Given the description of an element on the screen output the (x, y) to click on. 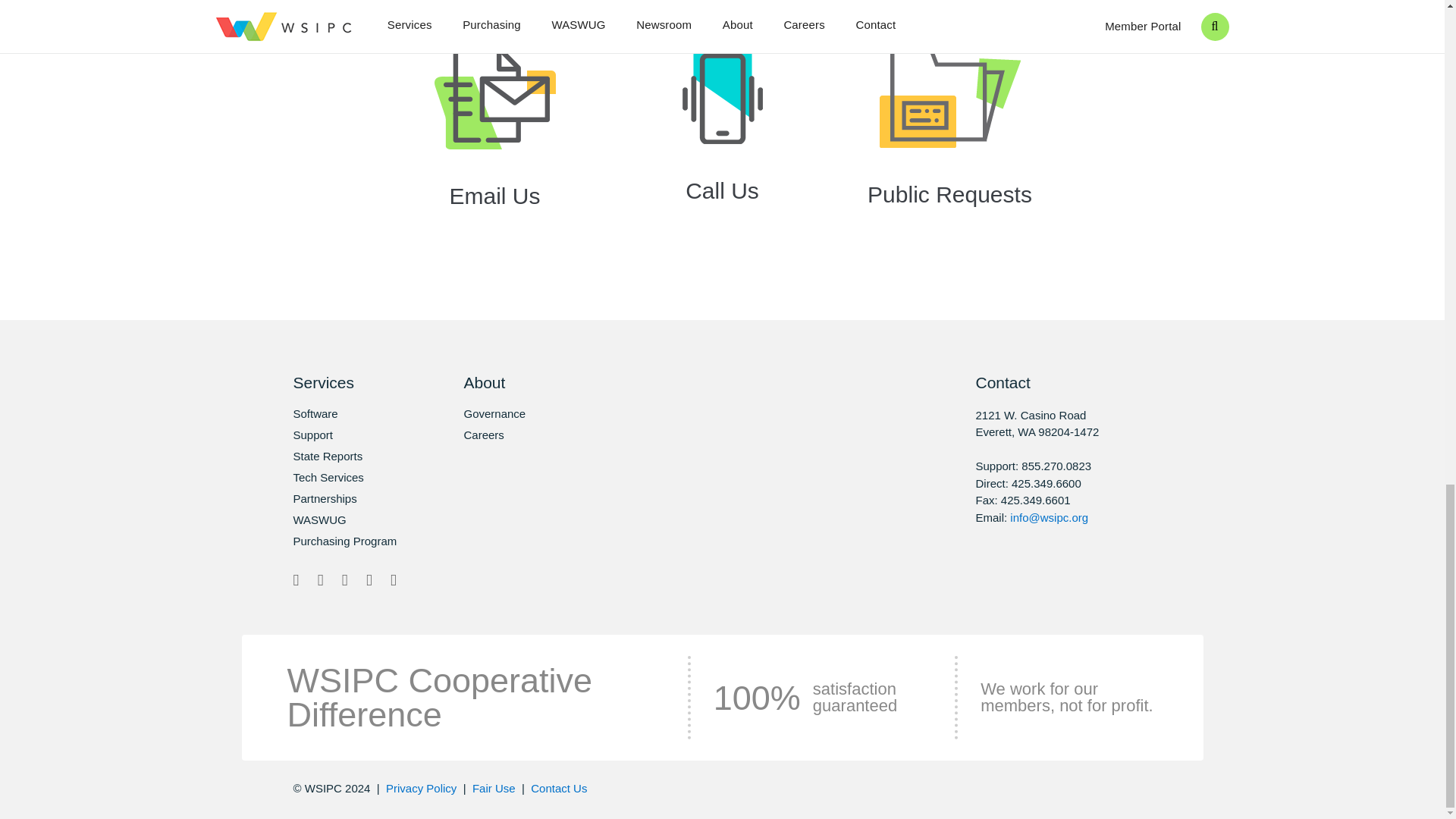
Fair Use (493, 788)
YouTube (393, 579)
Facebook (320, 579)
Twitter (295, 579)
Partnerships (352, 499)
Email Us (494, 142)
Privacy Policy (421, 788)
YouTube (393, 579)
Services (352, 382)
Software (352, 413)
Call Us (722, 140)
Support (352, 435)
About (523, 382)
Instagram (344, 579)
State Reports (352, 456)
